Given the description of an element on the screen output the (x, y) to click on. 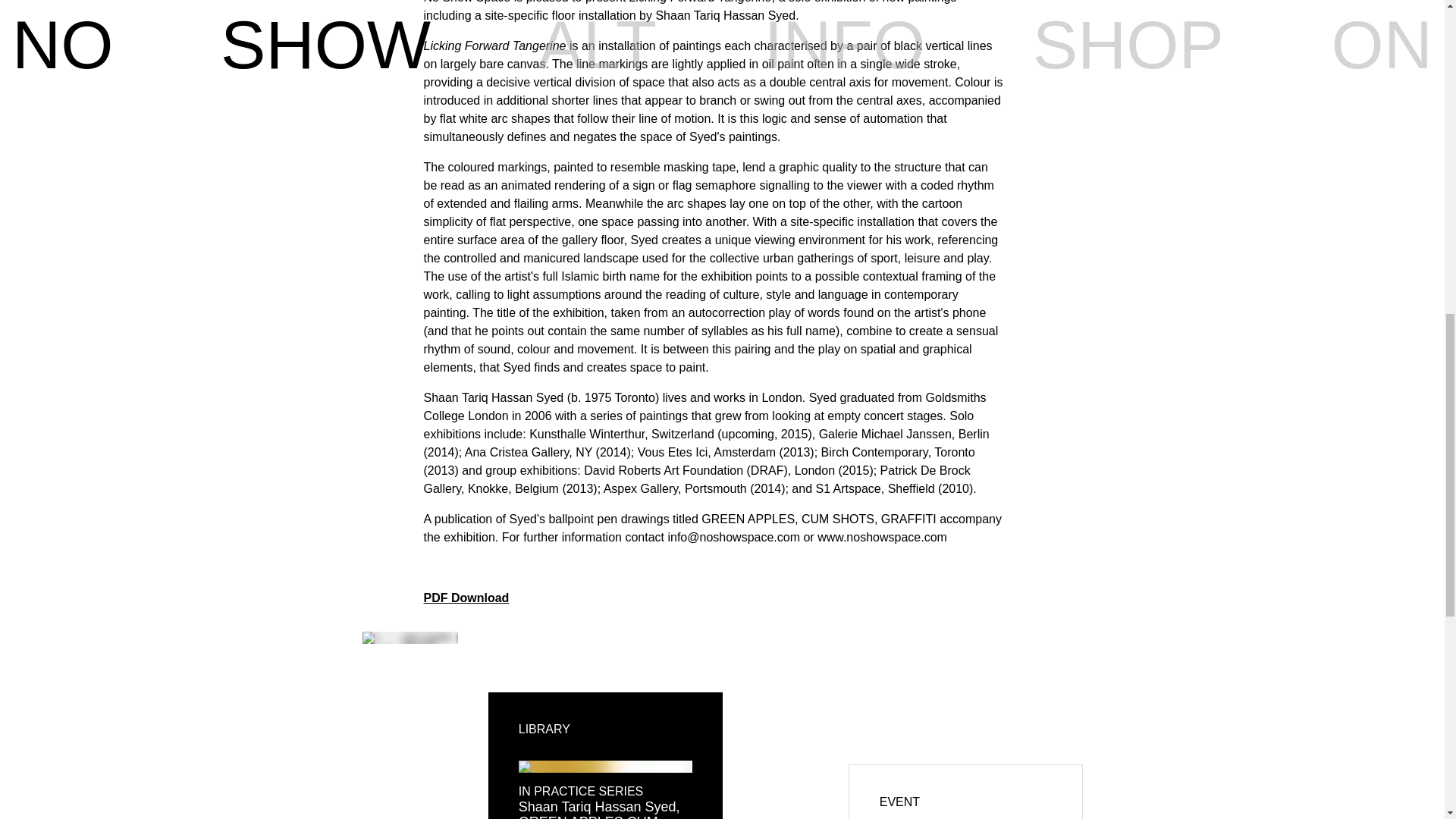
PDF Download (465, 597)
www.noshowspace.com (881, 536)
